Given the description of an element on the screen output the (x, y) to click on. 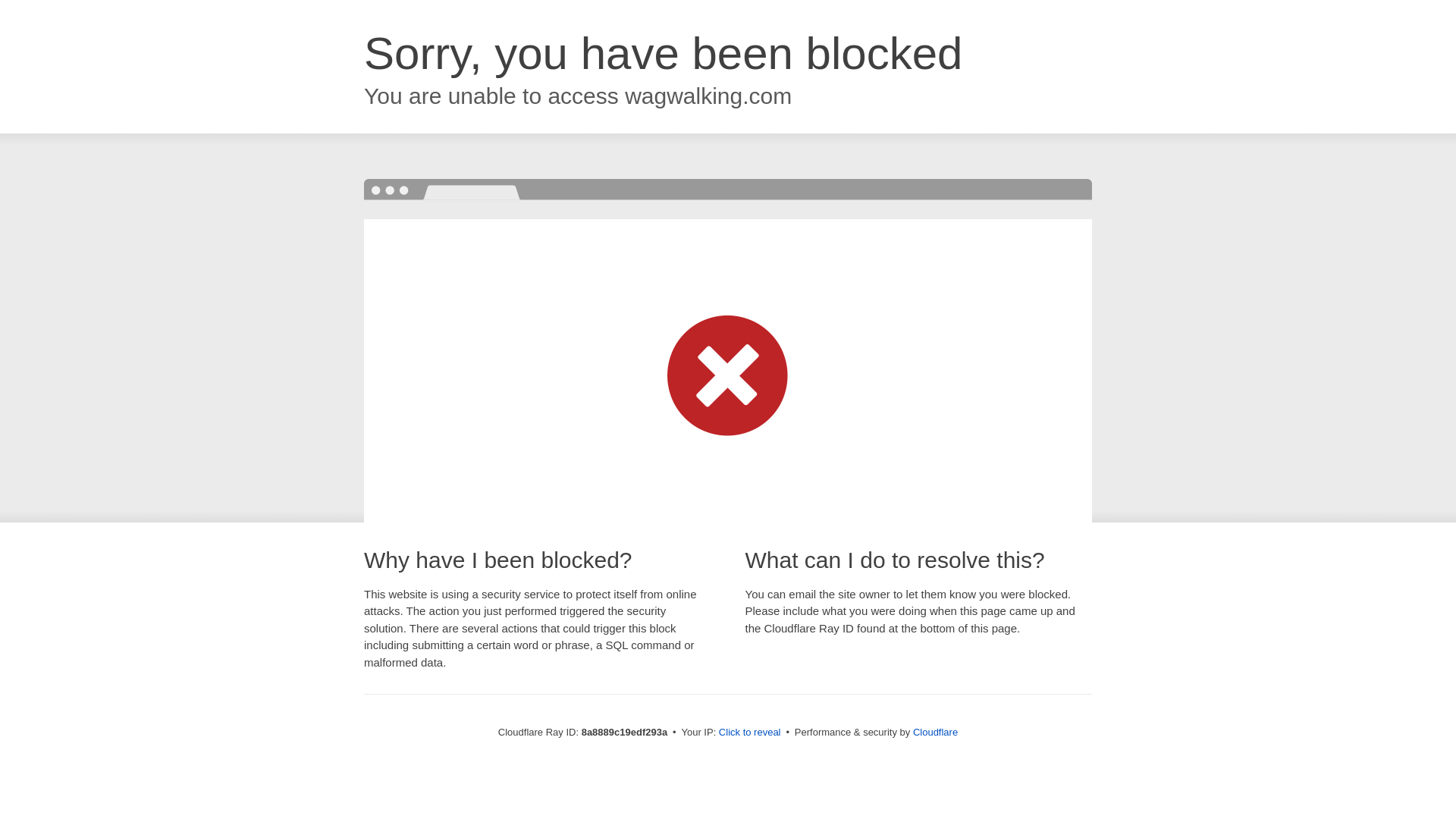
Click to reveal (749, 732)
Cloudflare (935, 731)
